Given the description of an element on the screen output the (x, y) to click on. 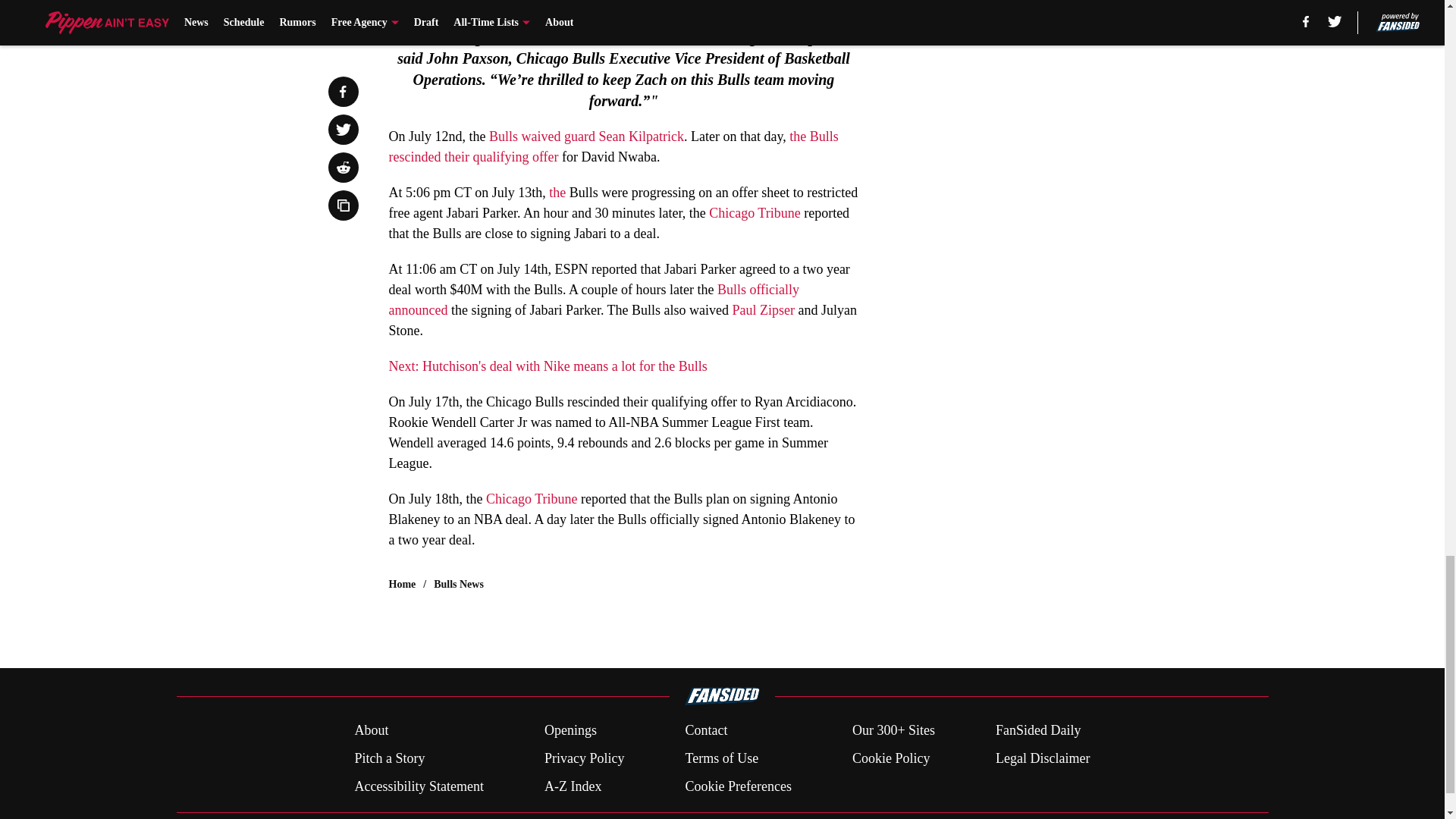
the (558, 192)
Bulls (733, 289)
Chicago Tribune (754, 212)
Bulls waived guard Sean Kilpatrick (586, 136)
officially announced (593, 299)
the Bulls rescinded their qualifying offer (613, 146)
